Given the description of an element on the screen output the (x, y) to click on. 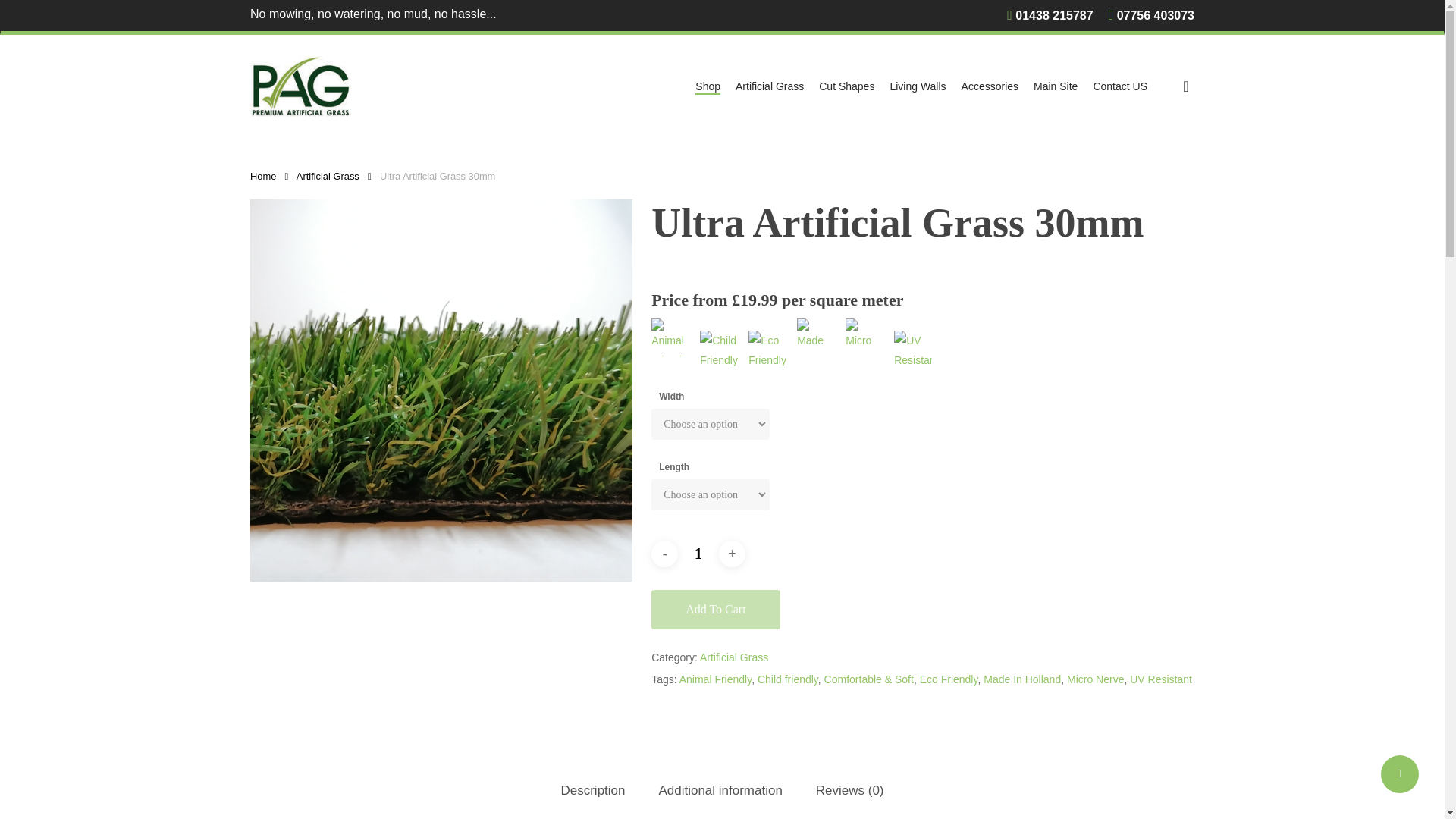
Animal Friendly (715, 679)
Made In Holland (1022, 679)
Additional information (719, 791)
UV Resistant (1160, 679)
Made In Holland (815, 337)
Living Walls (916, 86)
Artificial Grass (734, 657)
Animal Friendly (669, 337)
07756 403073 (1150, 16)
